Given the description of an element on the screen output the (x, y) to click on. 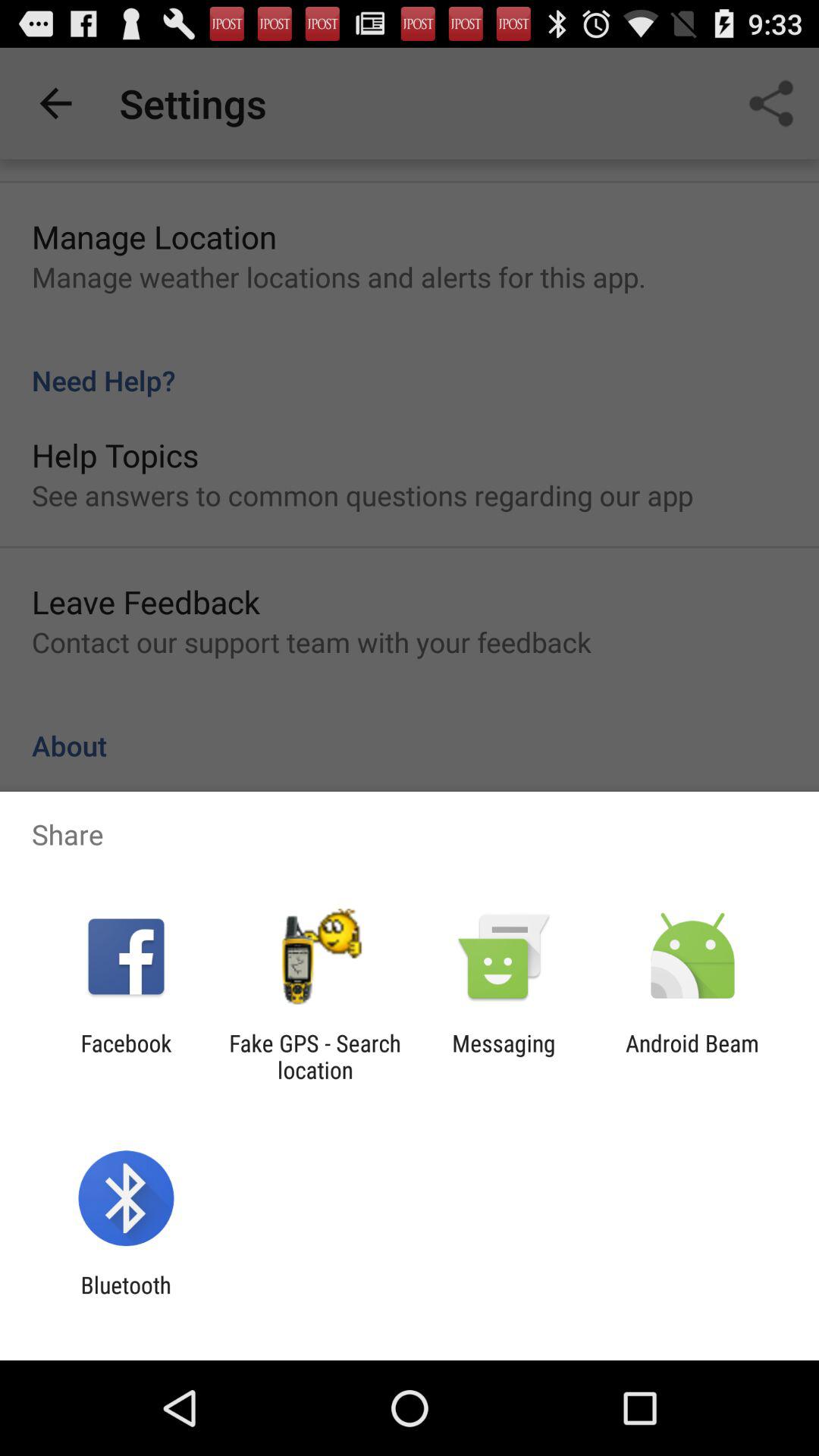
tap item next to the messaging icon (692, 1056)
